Given the description of an element on the screen output the (x, y) to click on. 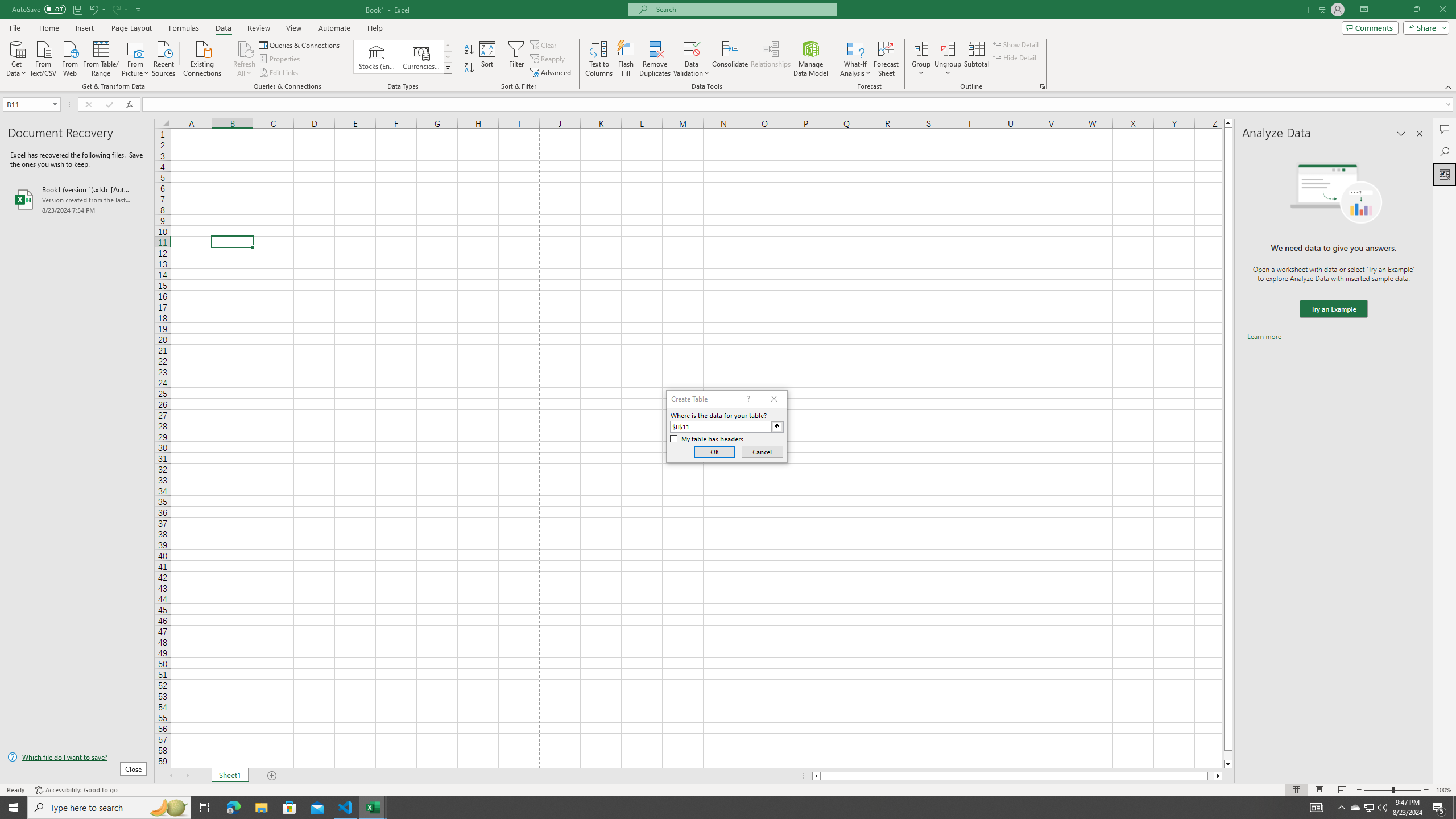
Currencies (English) (420, 56)
Consolidate... (729, 58)
Edit Links (279, 72)
